Given the description of an element on the screen output the (x, y) to click on. 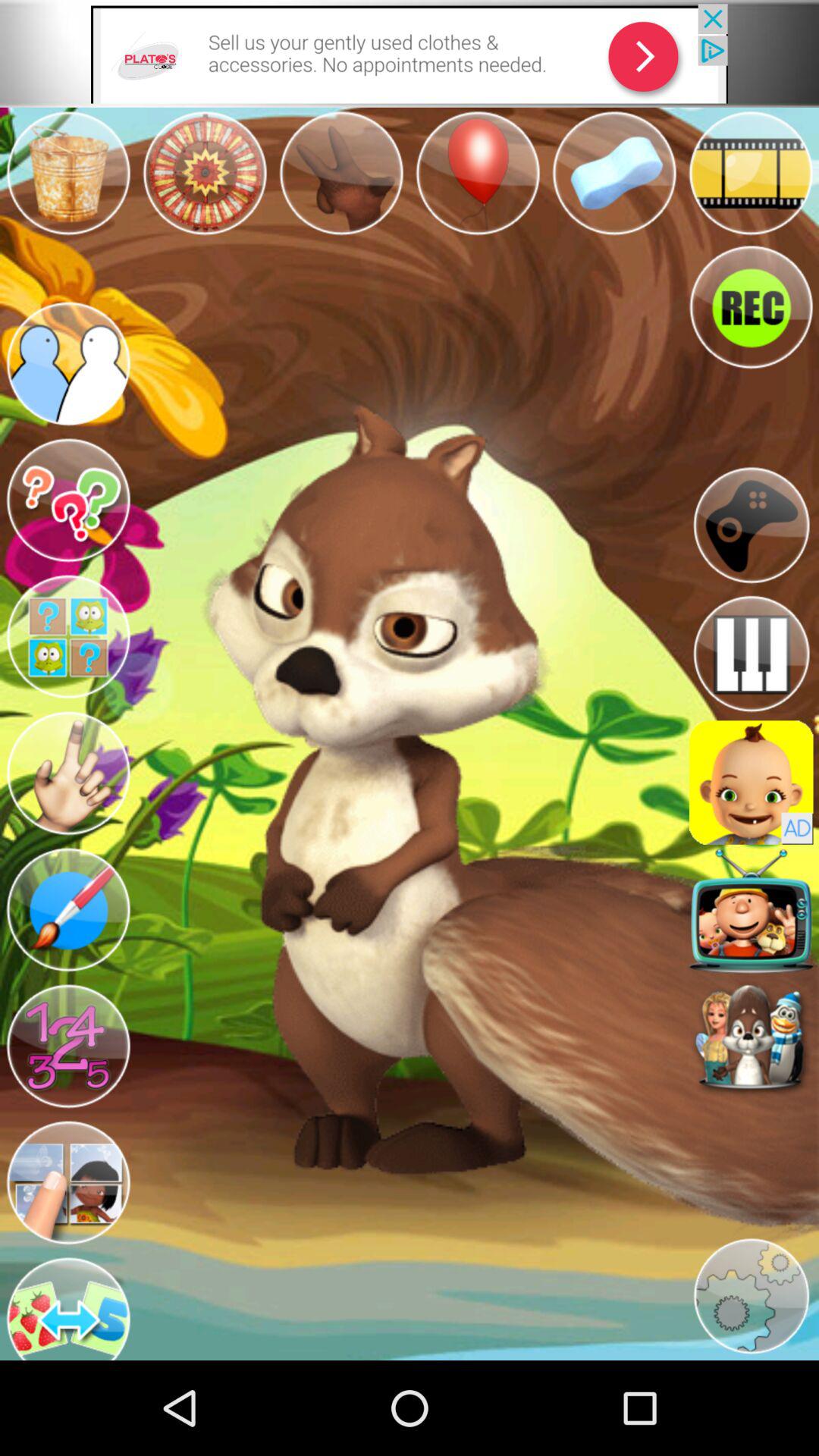
manipulate control settings (751, 525)
